Given the description of an element on the screen output the (x, y) to click on. 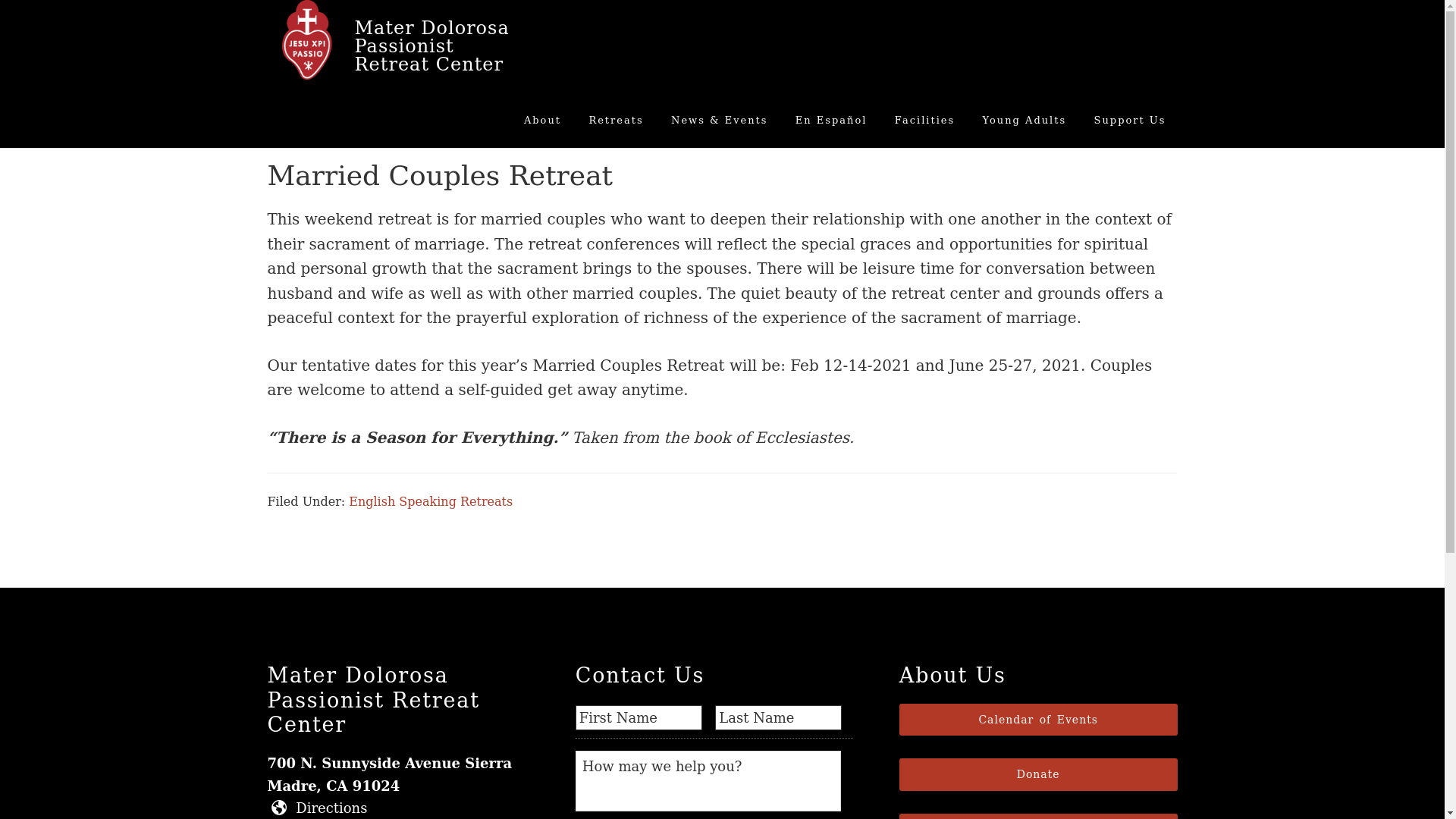
About (542, 120)
Last Name (777, 717)
First Name (638, 717)
Mater Dolorosa Passionist Retreat Center (432, 46)
Retreats (614, 120)
